Given the description of an element on the screen output the (x, y) to click on. 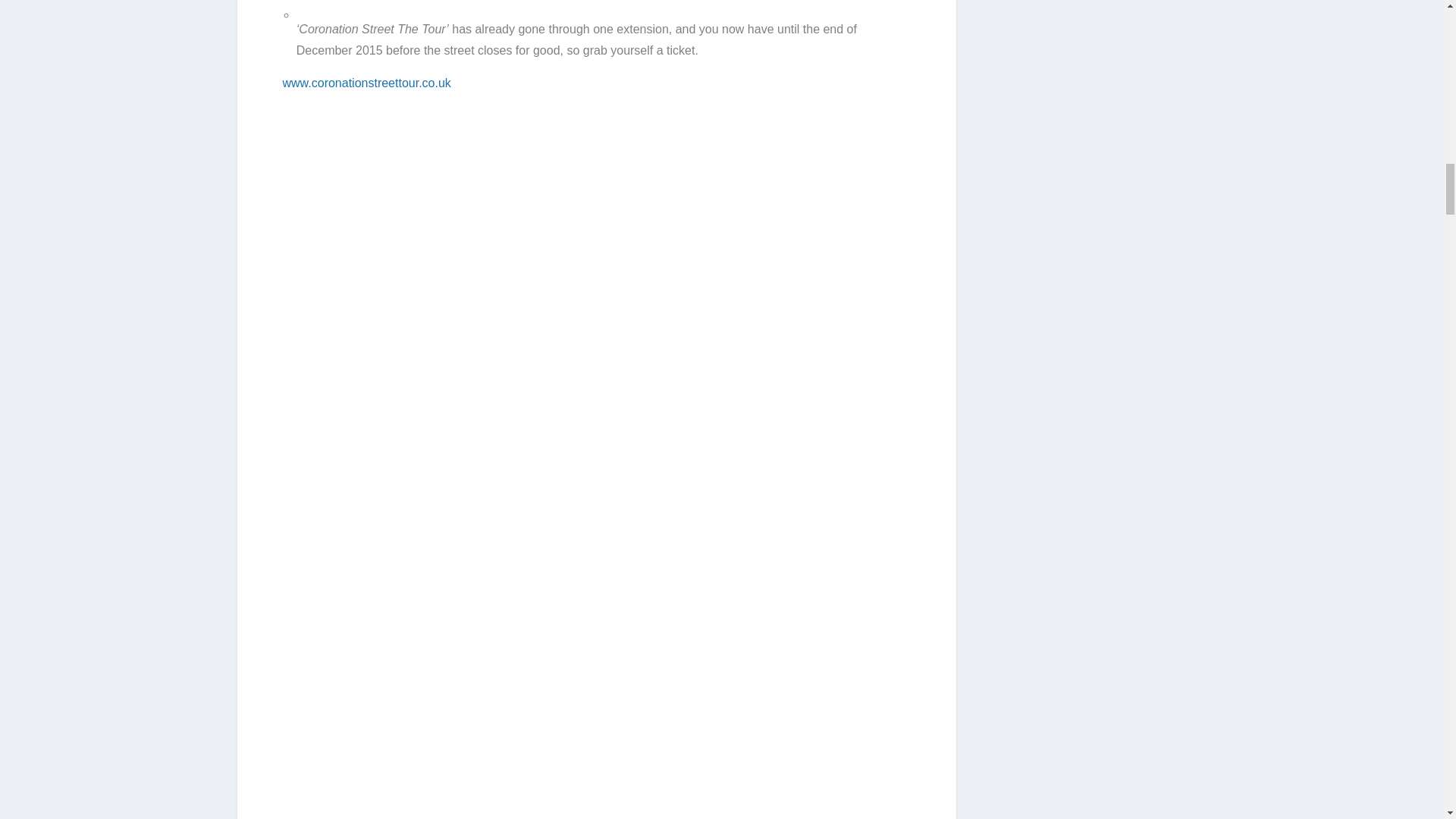
www.coronationstreettour.co.uk (365, 82)
